Given the description of an element on the screen output the (x, y) to click on. 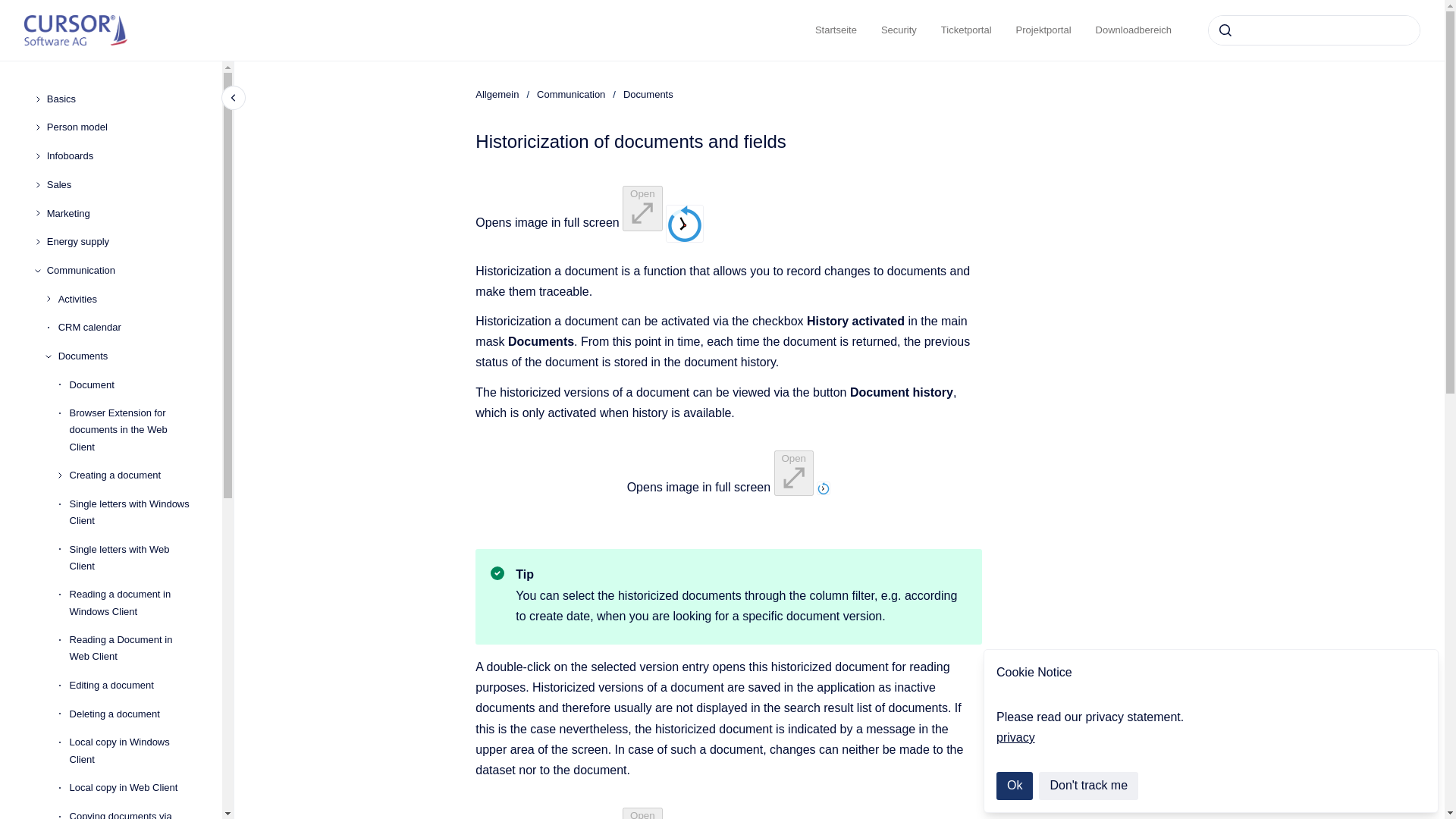
Ticketportal (966, 29)
Single letters with Windows Client (133, 512)
Infoboards (122, 155)
Security (898, 29)
Person model (122, 127)
Sales (122, 185)
Communication (122, 270)
Go to homepage (76, 30)
Documents (128, 356)
Reading a document in Windows Client (133, 603)
